Given the description of an element on the screen output the (x, y) to click on. 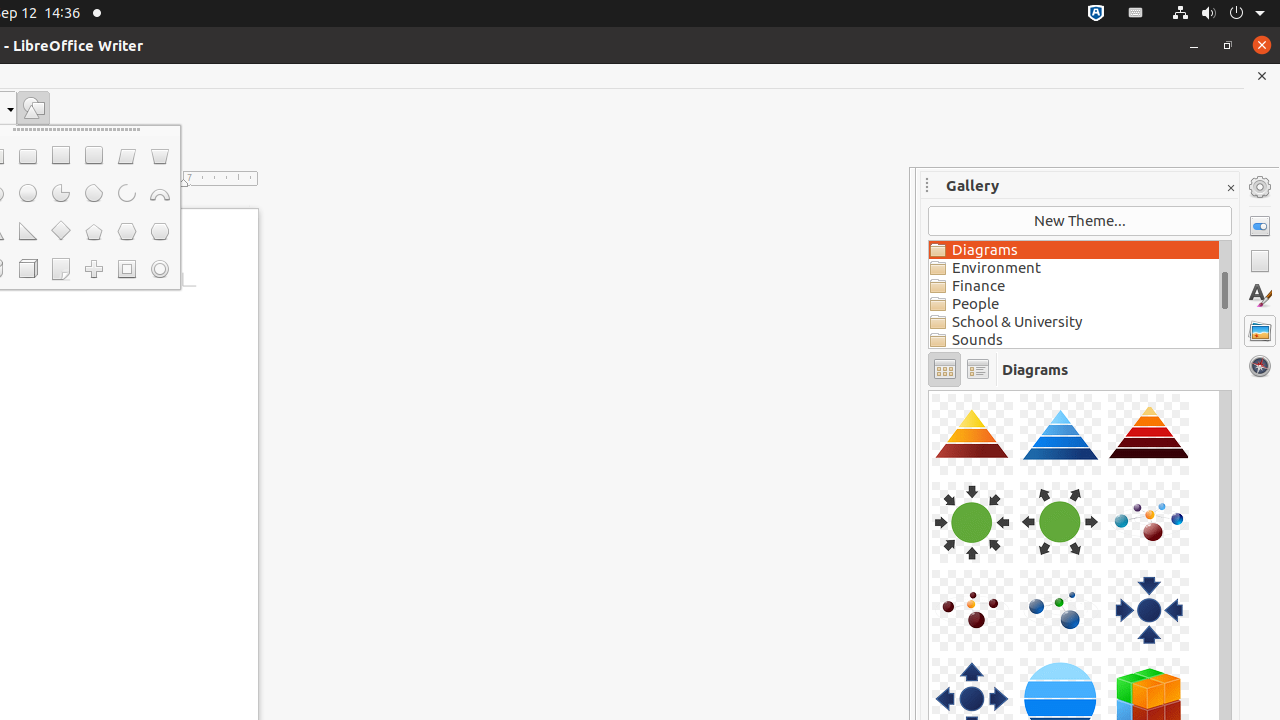
Component-Sphere03-Green Element type: list-item (929, 390)
Component-Sphere01-DarkBlue Element type: list-item (929, 390)
People Element type: list-item (1074, 304)
Finance Element type: list-item (1074, 286)
Component-Circle05-Transparent-Red Element type: list-item (929, 390)
